Given the description of an element on the screen output the (x, y) to click on. 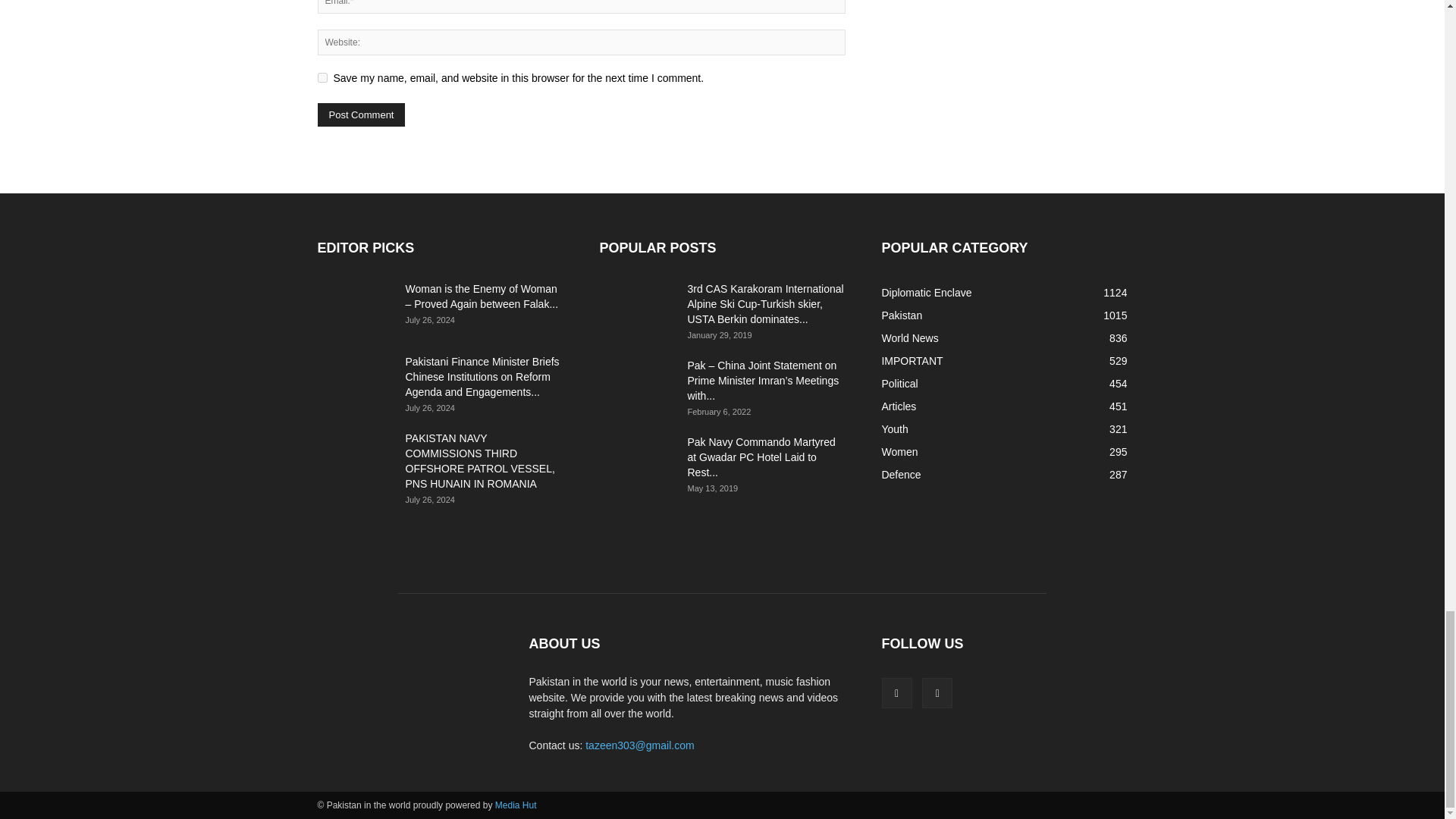
Post Comment (360, 114)
yes (321, 77)
